Given the description of an element on the screen output the (x, y) to click on. 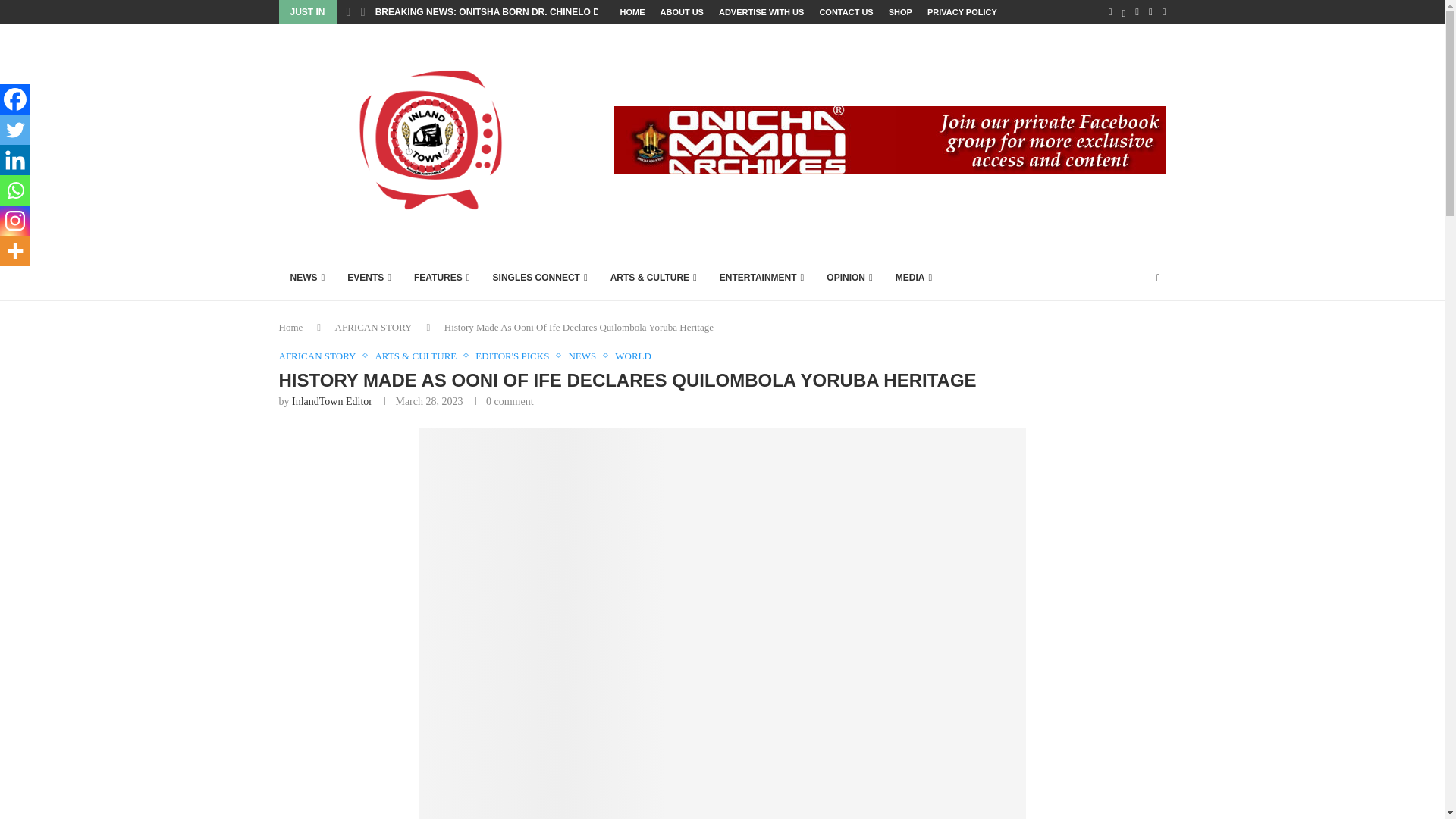
Twitter (15, 129)
Linkedin (15, 159)
HOME (632, 12)
Instagram (15, 220)
ABOUT US (681, 12)
SHOP (900, 12)
PRIVACY POLICY (962, 12)
NEWS (307, 278)
EVENTS (369, 278)
Whatsapp (15, 190)
